Given the description of an element on the screen output the (x, y) to click on. 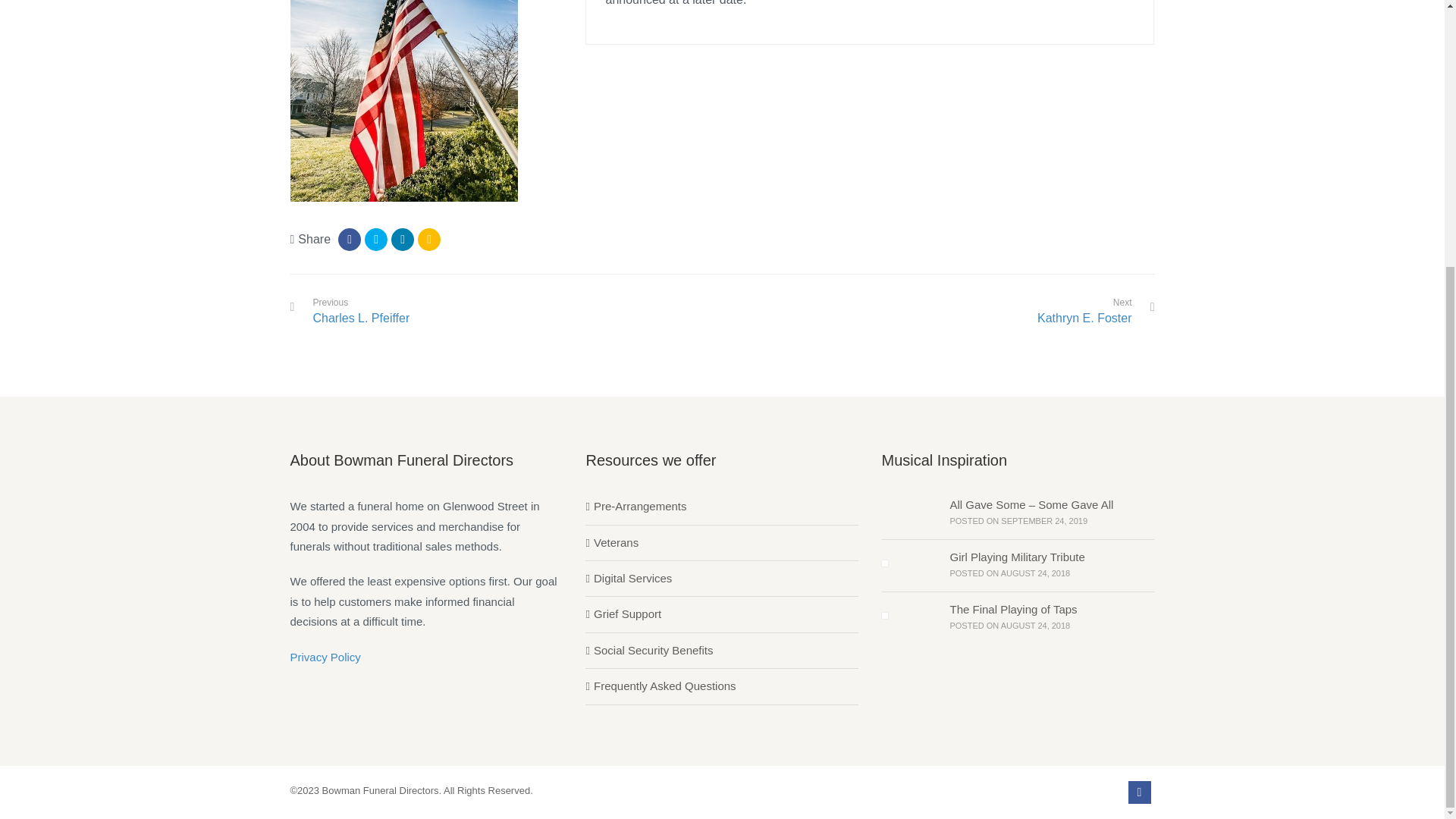
Tweet (376, 239)
Share on Linkedin (402, 239)
Share on Facebook (349, 239)
Email (429, 239)
